Given the description of an element on the screen output the (x, y) to click on. 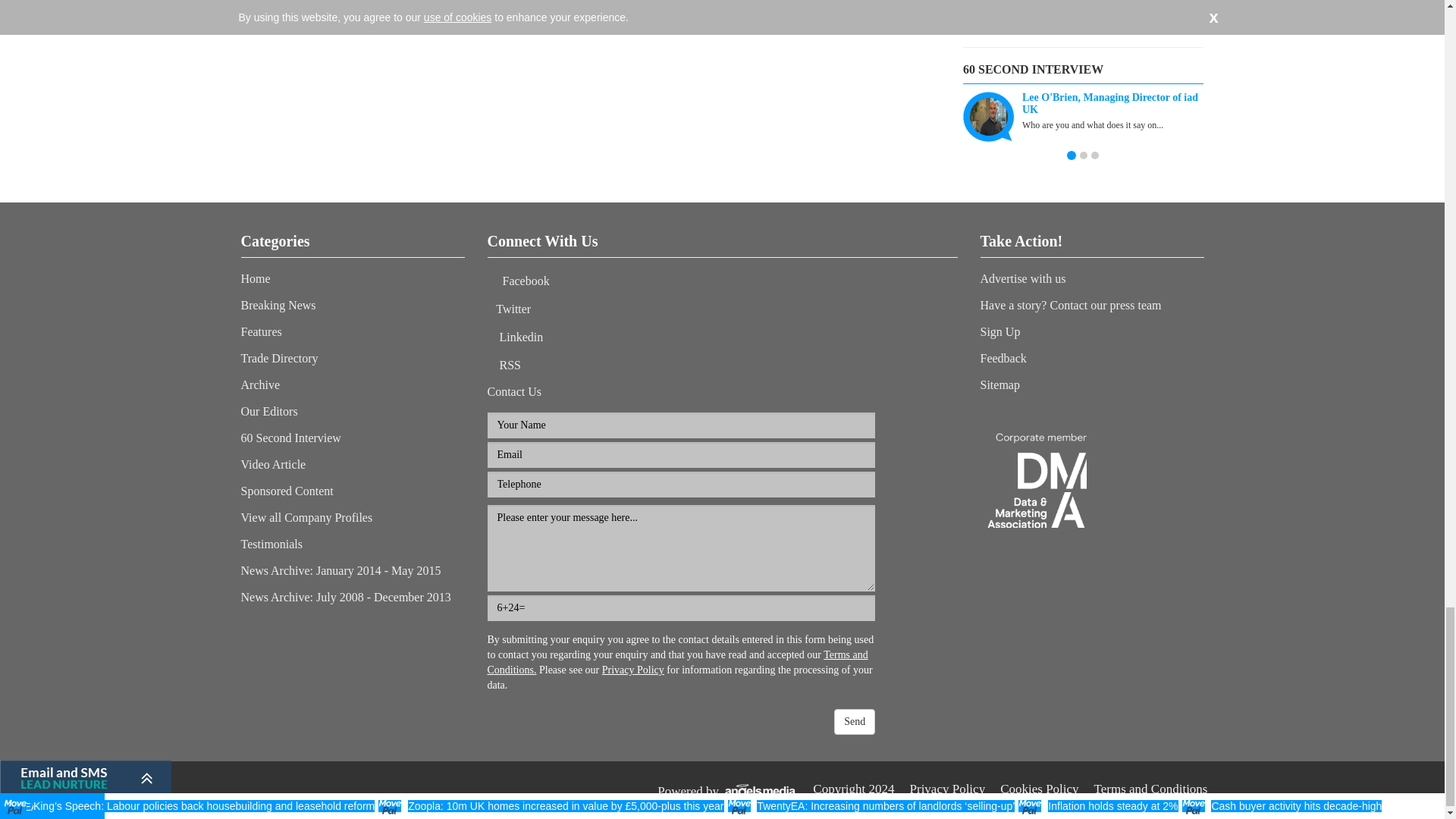
Send (854, 721)
